Given the description of an element on the screen output the (x, y) to click on. 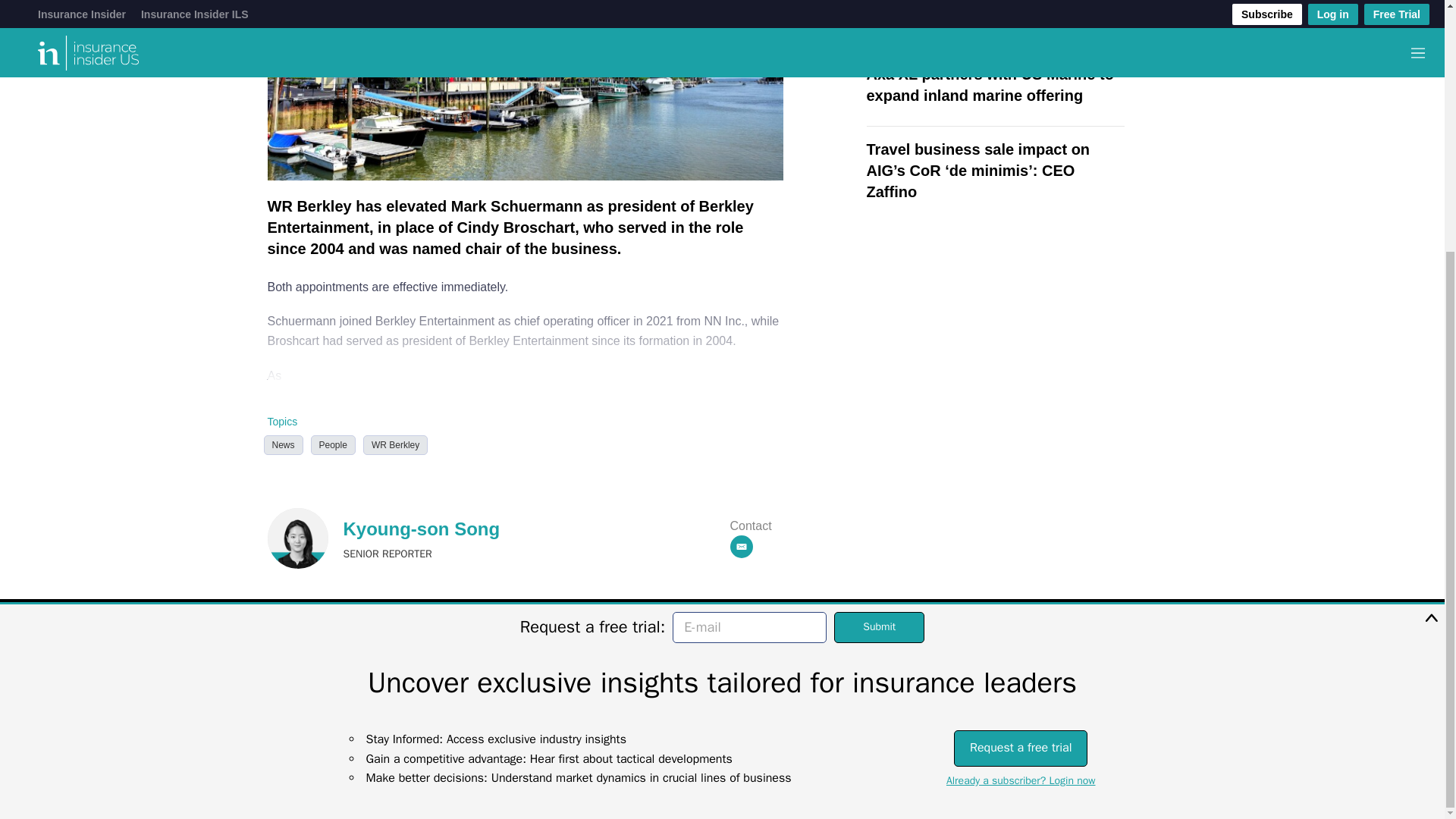
Submit (879, 273)
